Given the description of an element on the screen output the (x, y) to click on. 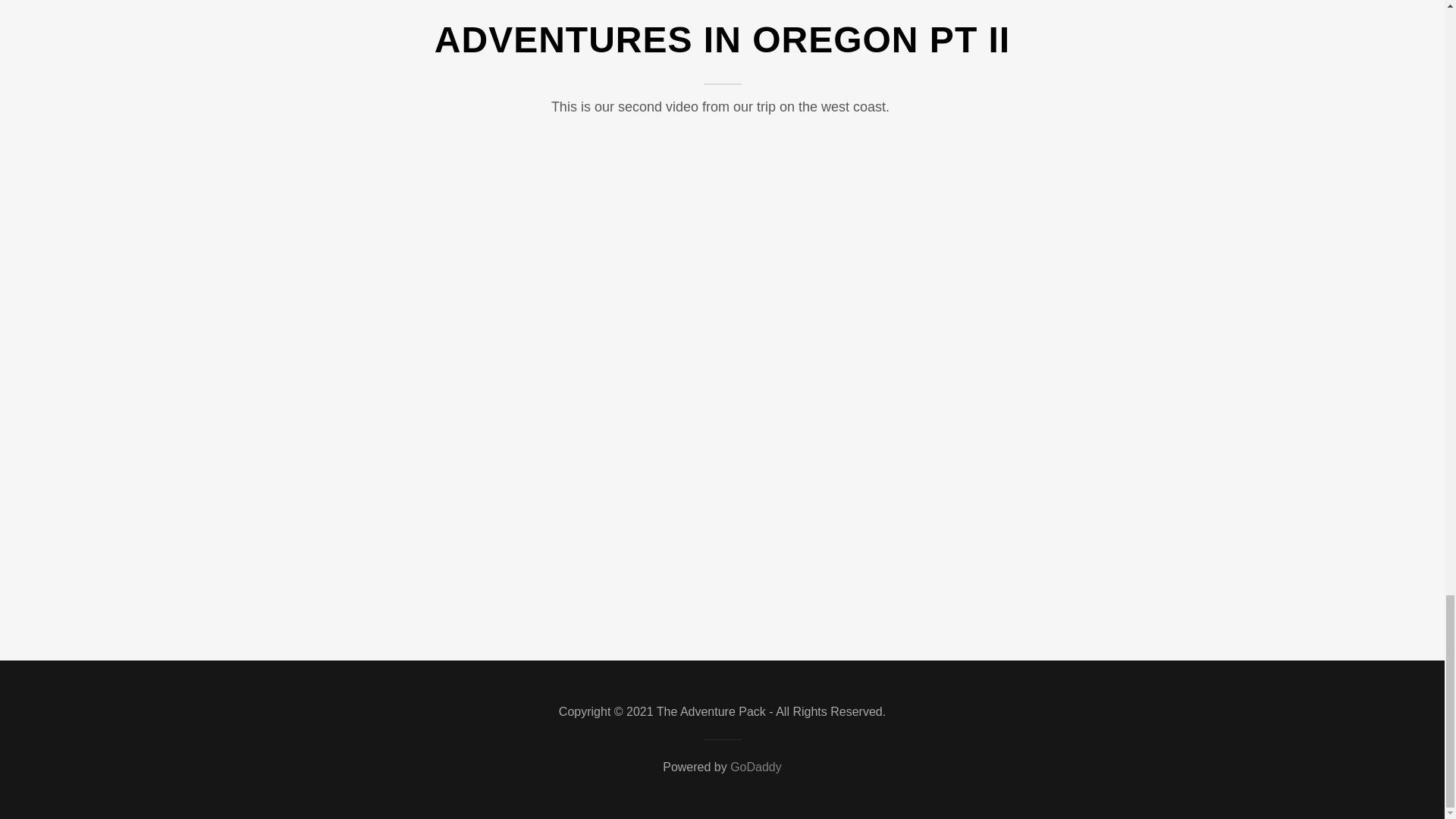
GoDaddy (755, 766)
